Given the description of an element on the screen output the (x, y) to click on. 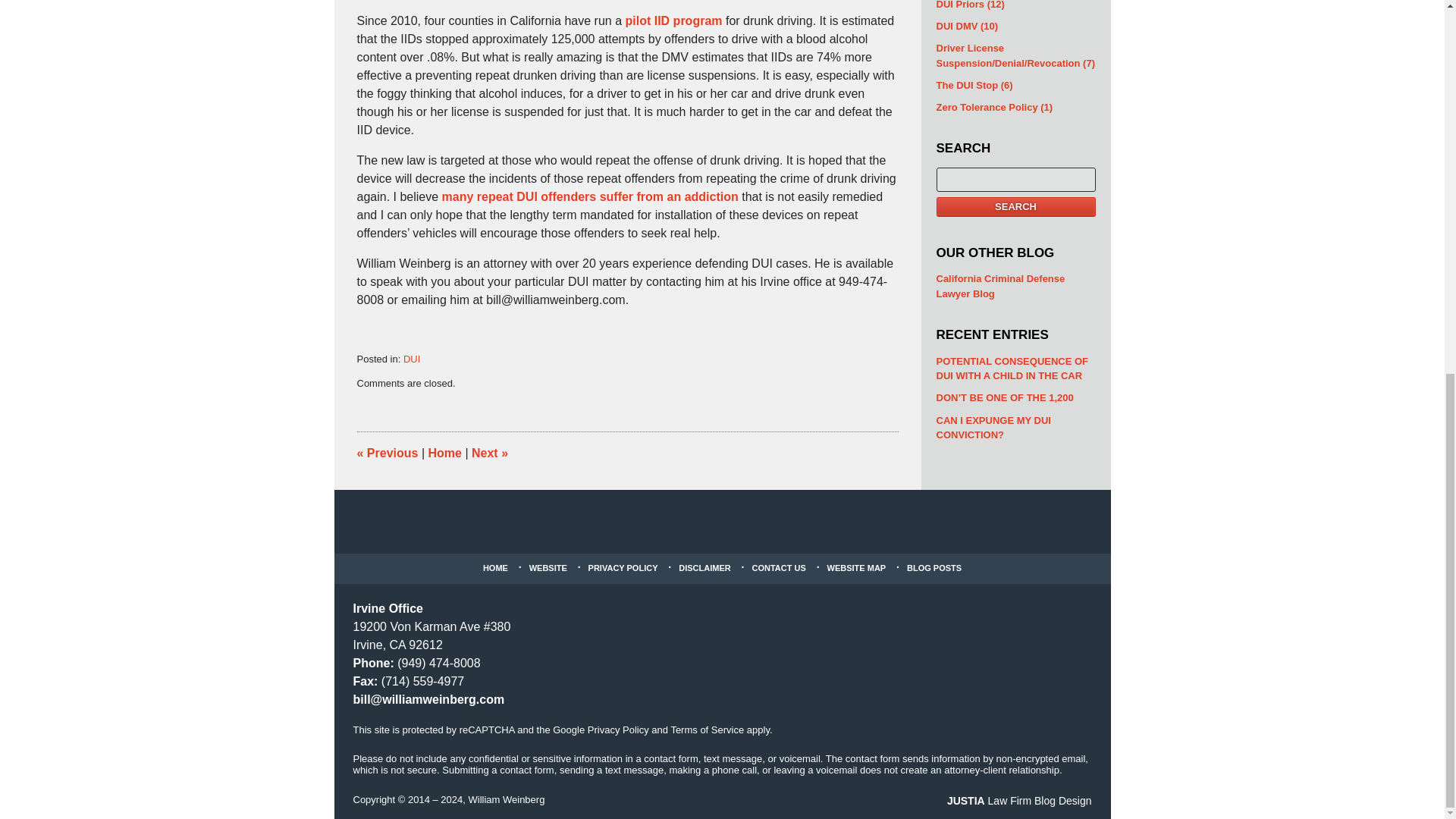
SEARCH (1015, 207)
View all posts in DUI (411, 358)
pilot IID program (673, 20)
DUI AND CHILD ENDANGERMENT (489, 452)
POTENTIAL CONSEQUENCE OF DUI WITH A CHILD IN THE CAR (1015, 367)
California Criminal Defense Lawyer Blog (1015, 286)
DUI (411, 358)
DUI Deterrents: Checkpoints and Saturation Patrols (386, 452)
many repeat DUI offenders suffer from an addiction (590, 196)
Home (444, 452)
